Given the description of an element on the screen output the (x, y) to click on. 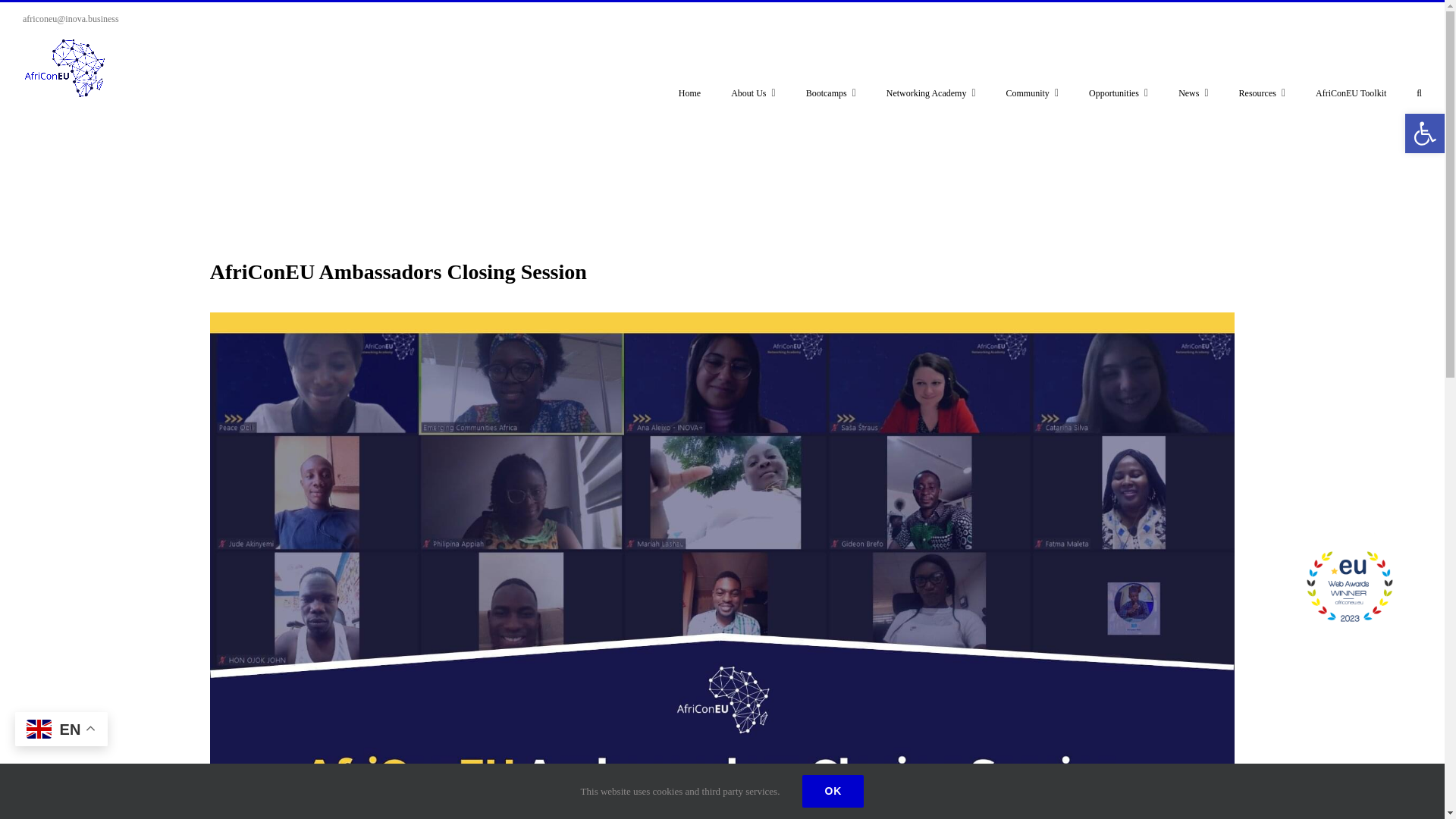
Accessibility Tools (1424, 133)
